Given the description of an element on the screen output the (x, y) to click on. 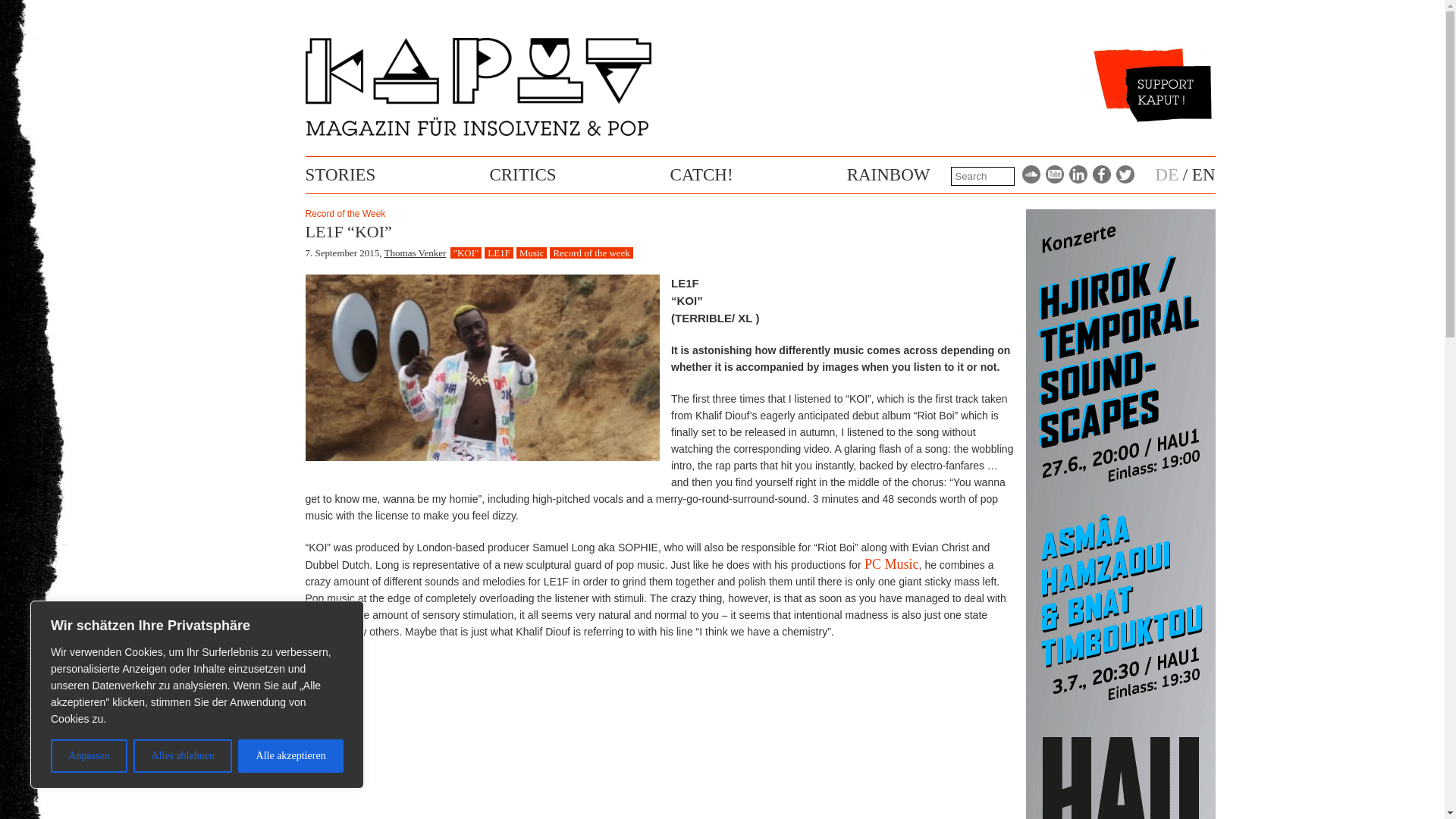
CRITICS (522, 175)
Deutsch (1165, 174)
Alles ablehnen (182, 756)
CATCH! (701, 175)
zur Startseite (477, 131)
LE1F (498, 252)
Anpassen (89, 756)
Music (531, 252)
RAINBOW (888, 175)
Record of the week (590, 252)
Posts by Thomas Venker (415, 252)
STORIES (339, 175)
DE (1165, 174)
EN (1203, 174)
Alle akzeptieren (290, 756)
